Given the description of an element on the screen output the (x, y) to click on. 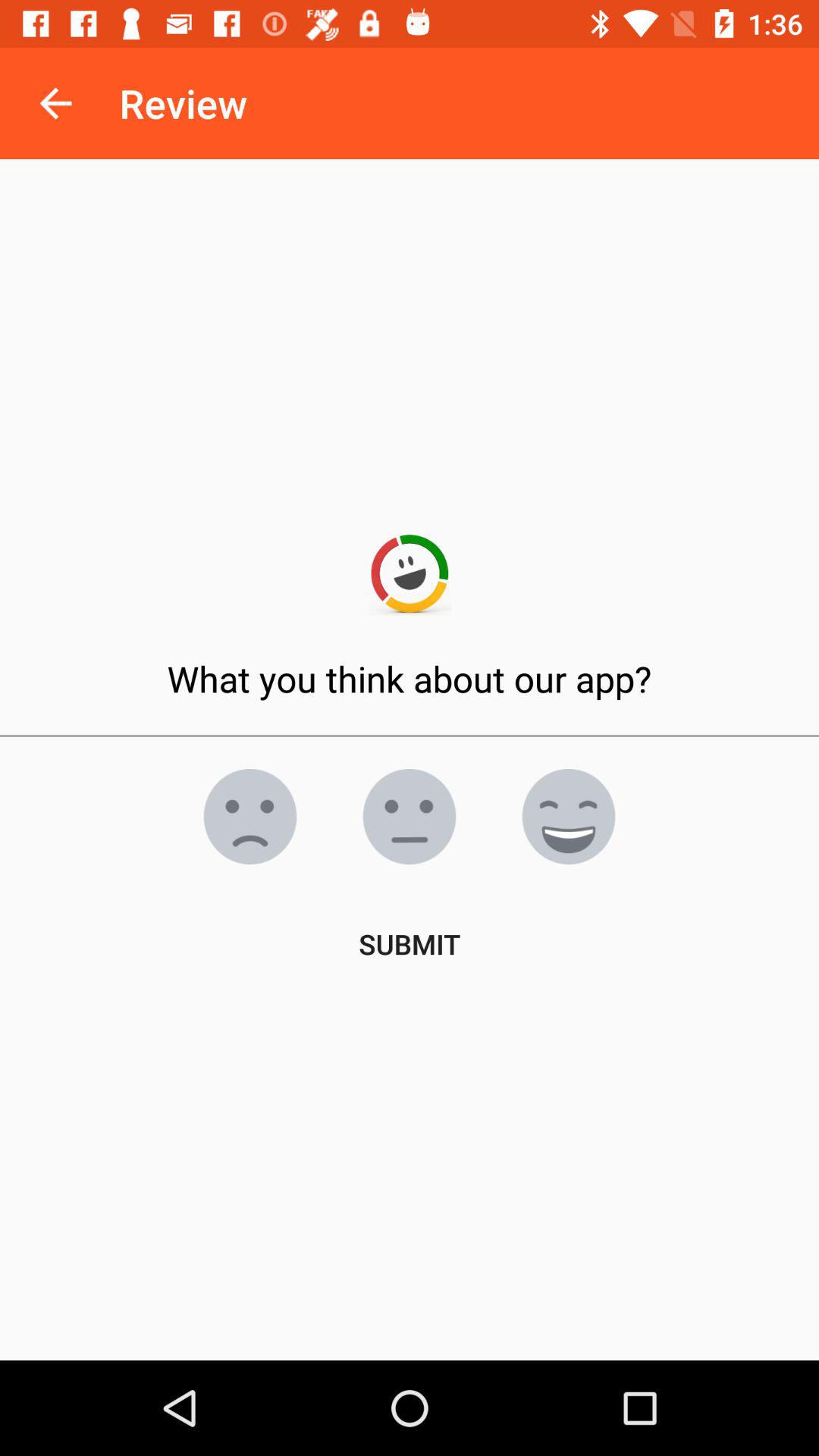
turn off app next to review (55, 103)
